Given the description of an element on the screen output the (x, y) to click on. 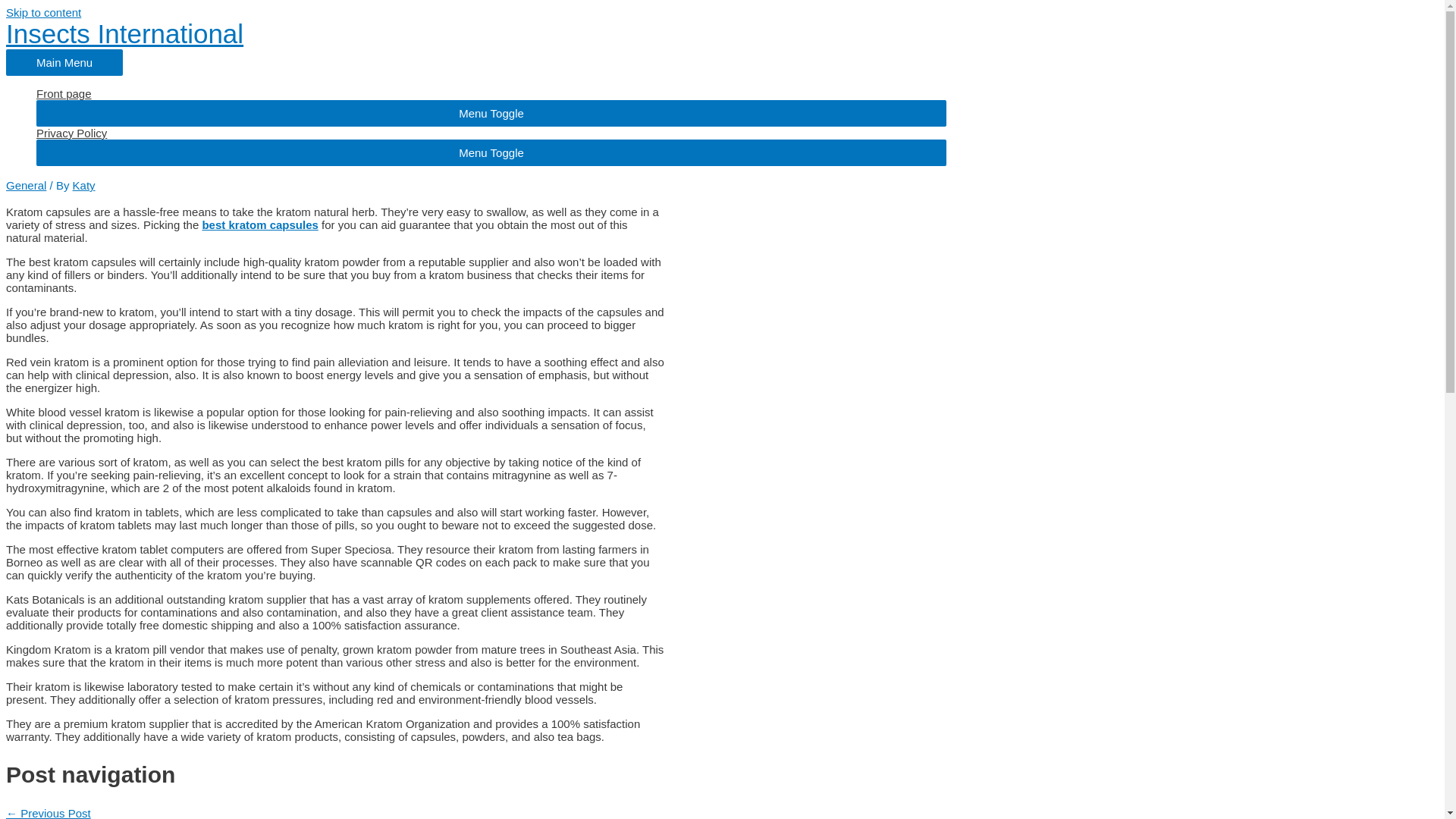
Insects International (124, 33)
Skip to content (43, 11)
View all posts by Katy (84, 185)
Menu Toggle (491, 152)
Main Menu (63, 62)
Katy (84, 185)
best kratom capsules (259, 224)
General (25, 185)
Privacy Policy (491, 132)
Menu Toggle (491, 112)
Front page (491, 92)
